Given the description of an element on the screen output the (x, y) to click on. 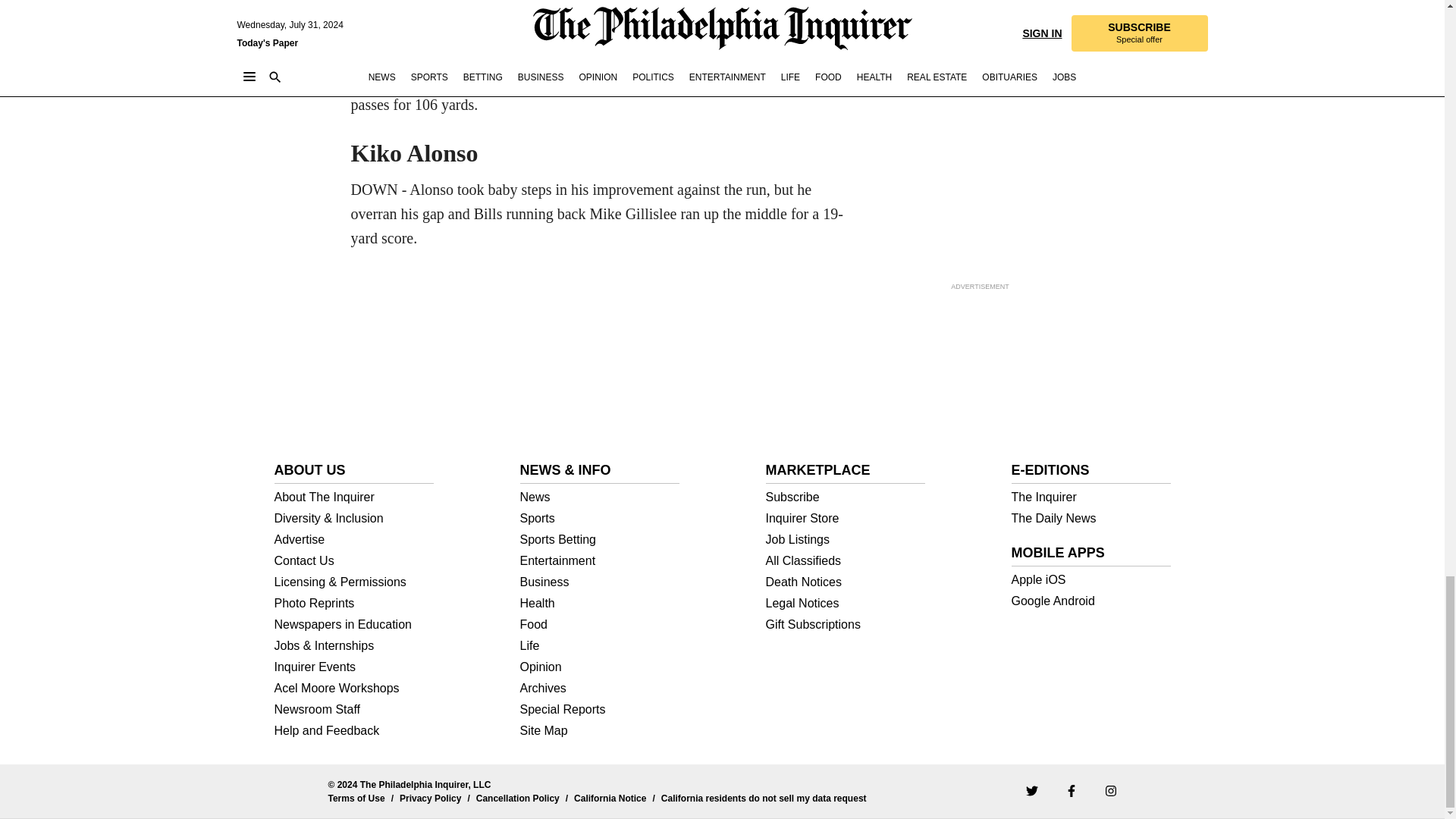
Contact Us (354, 561)
Twitter (1030, 789)
Photo Reprints (354, 603)
Instagram (1109, 789)
Advertise (354, 539)
About The Inquirer (354, 497)
Facebook (1070, 789)
